Given the description of an element on the screen output the (x, y) to click on. 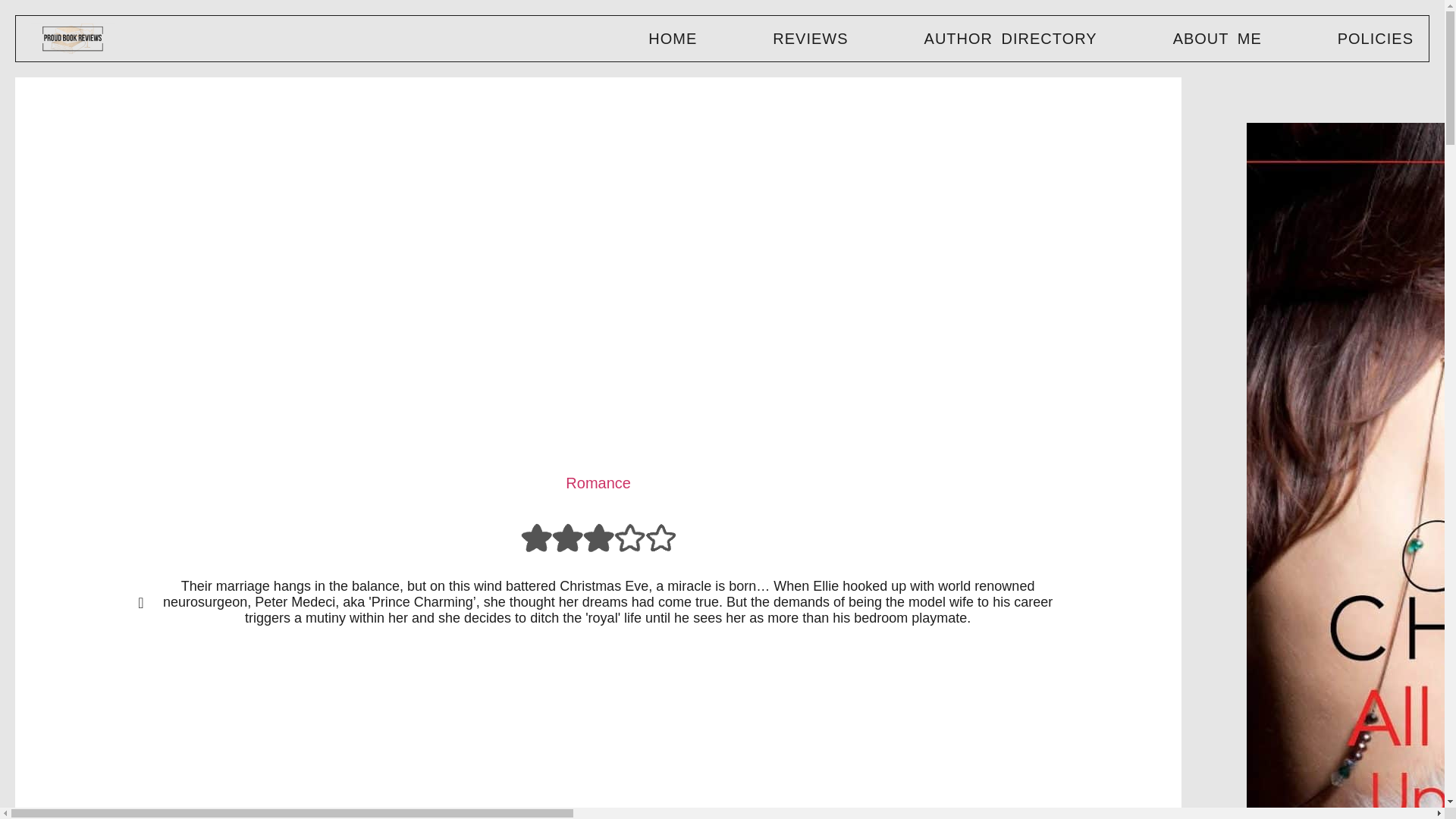
Romance (598, 483)
REVIEWS (810, 38)
ABOUT ME (1217, 38)
AUTHOR DIRECTORY (1010, 38)
HOME (672, 38)
POLICIES (1375, 38)
